Given the description of an element on the screen output the (x, y) to click on. 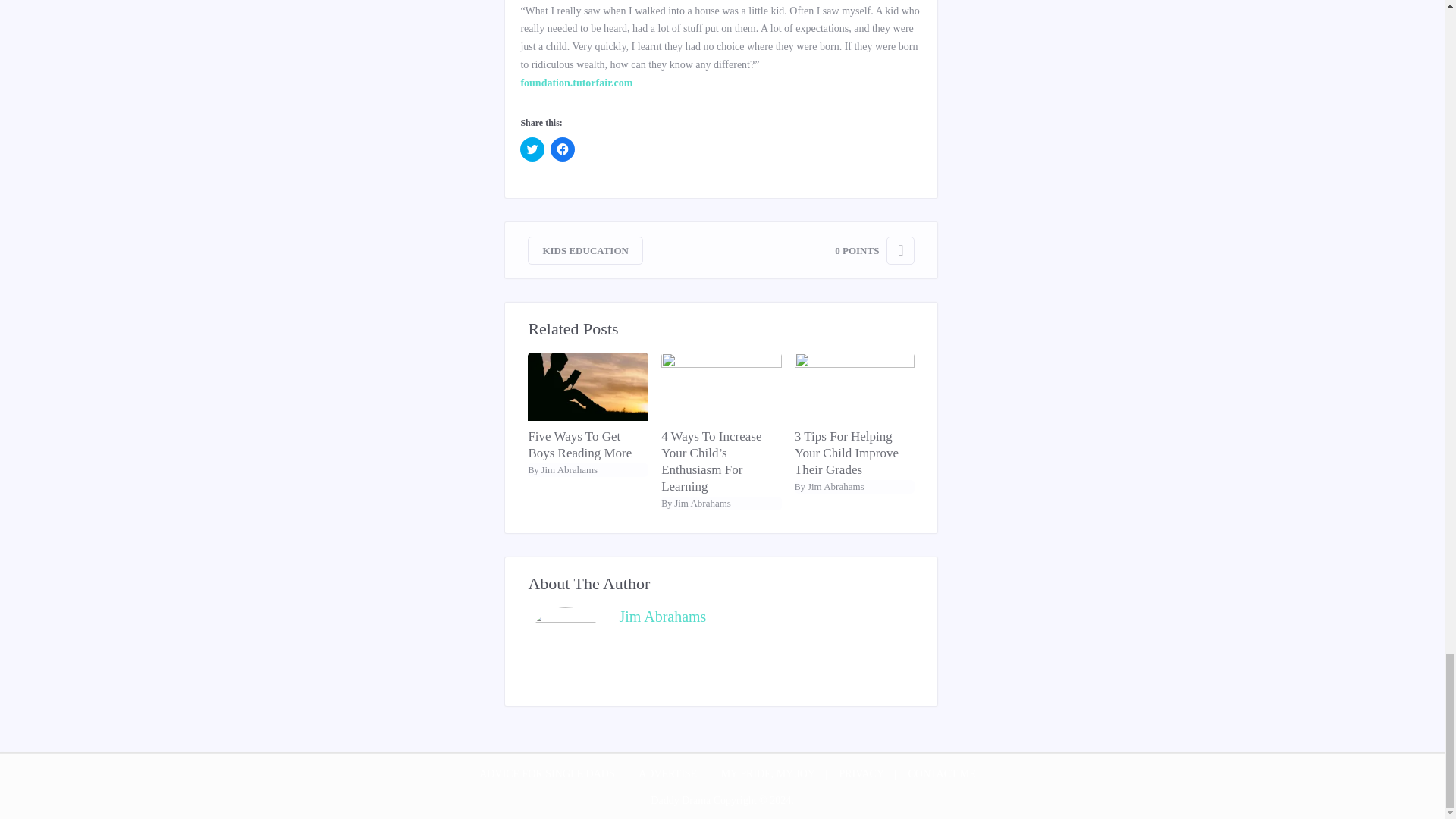
Click to share on Facebook (562, 149)
View all posts in Kids Education (585, 250)
Posts by Jim Abrahams (836, 486)
Jim Abrahams (702, 502)
Posts by Jim Abrahams (702, 502)
KIDS EDUCATION (585, 250)
Jim Abrahams (568, 469)
Click to share on Twitter (531, 149)
Five Ways To Get Boys Reading More (587, 444)
Posts by Jim Abrahams (568, 469)
